Given the description of an element on the screen output the (x, y) to click on. 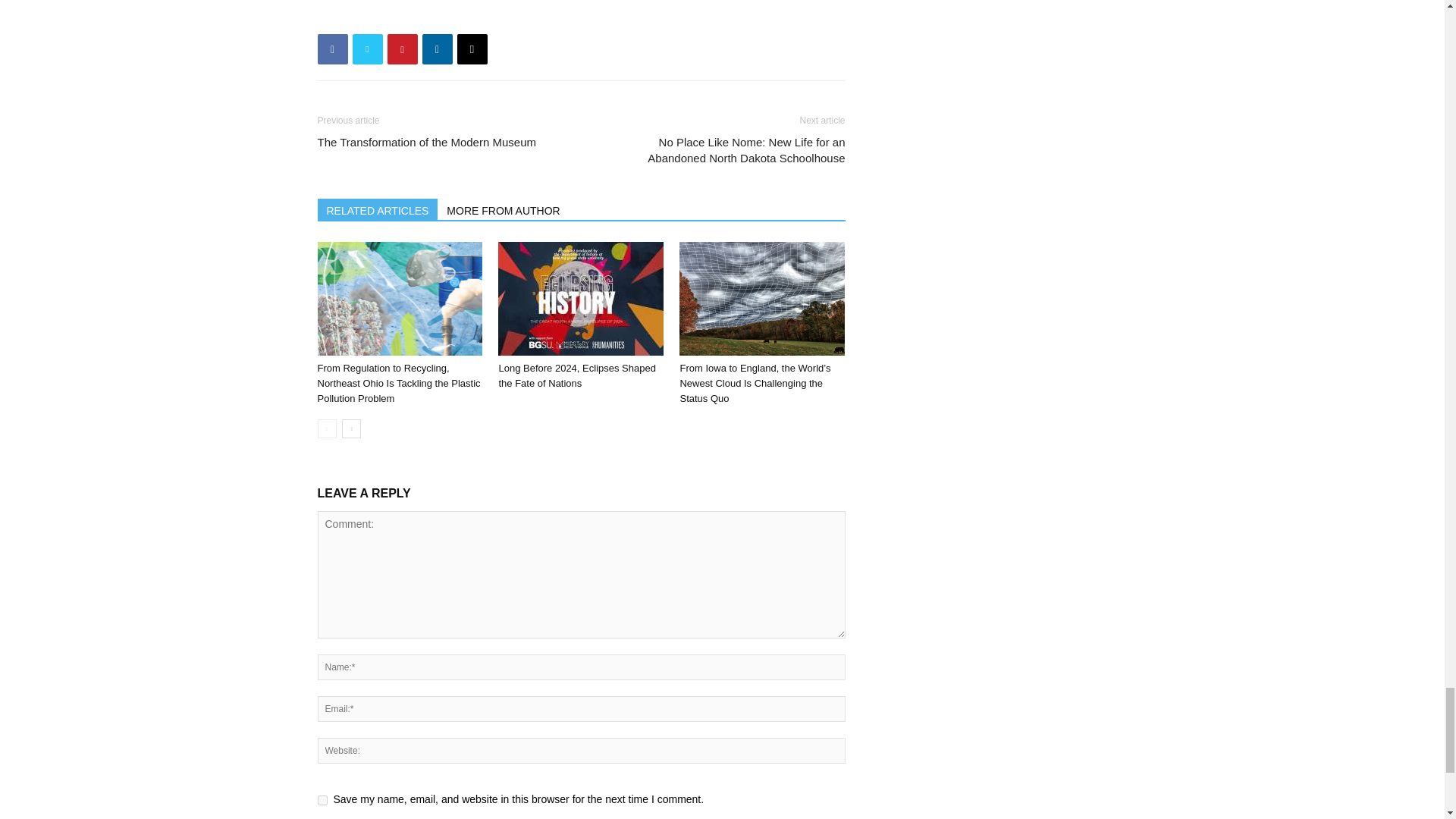
Facebook (332, 49)
Twitter (366, 49)
yes (321, 800)
Pinterest (401, 49)
